Given the description of an element on the screen output the (x, y) to click on. 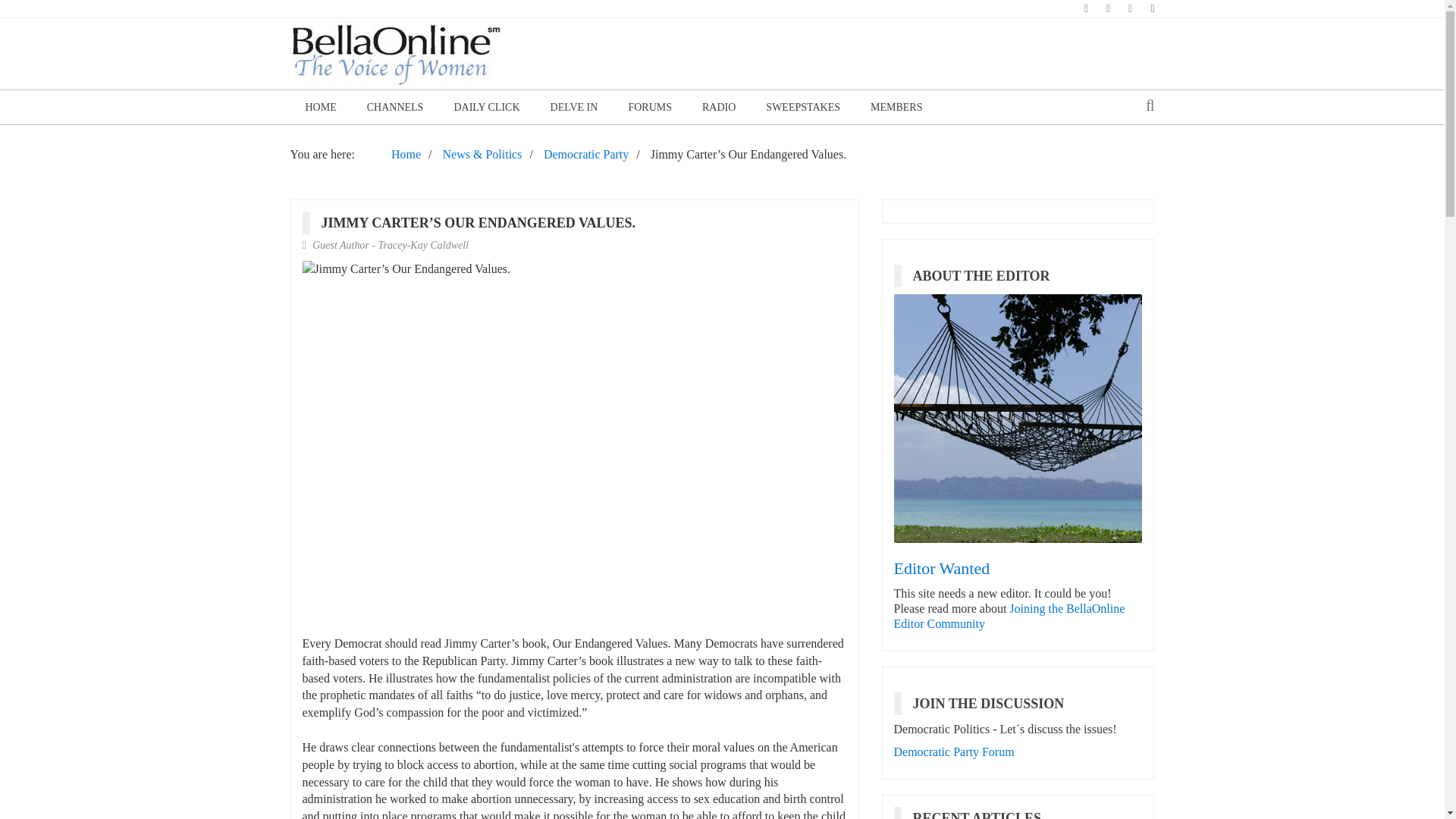
CHANNELS (395, 107)
RADIO (719, 107)
HOME (319, 107)
FORUMS (649, 107)
DAILY CLICK (486, 107)
SWEEPSTAKES (803, 107)
DELVE IN (573, 107)
